Given the description of an element on the screen output the (x, y) to click on. 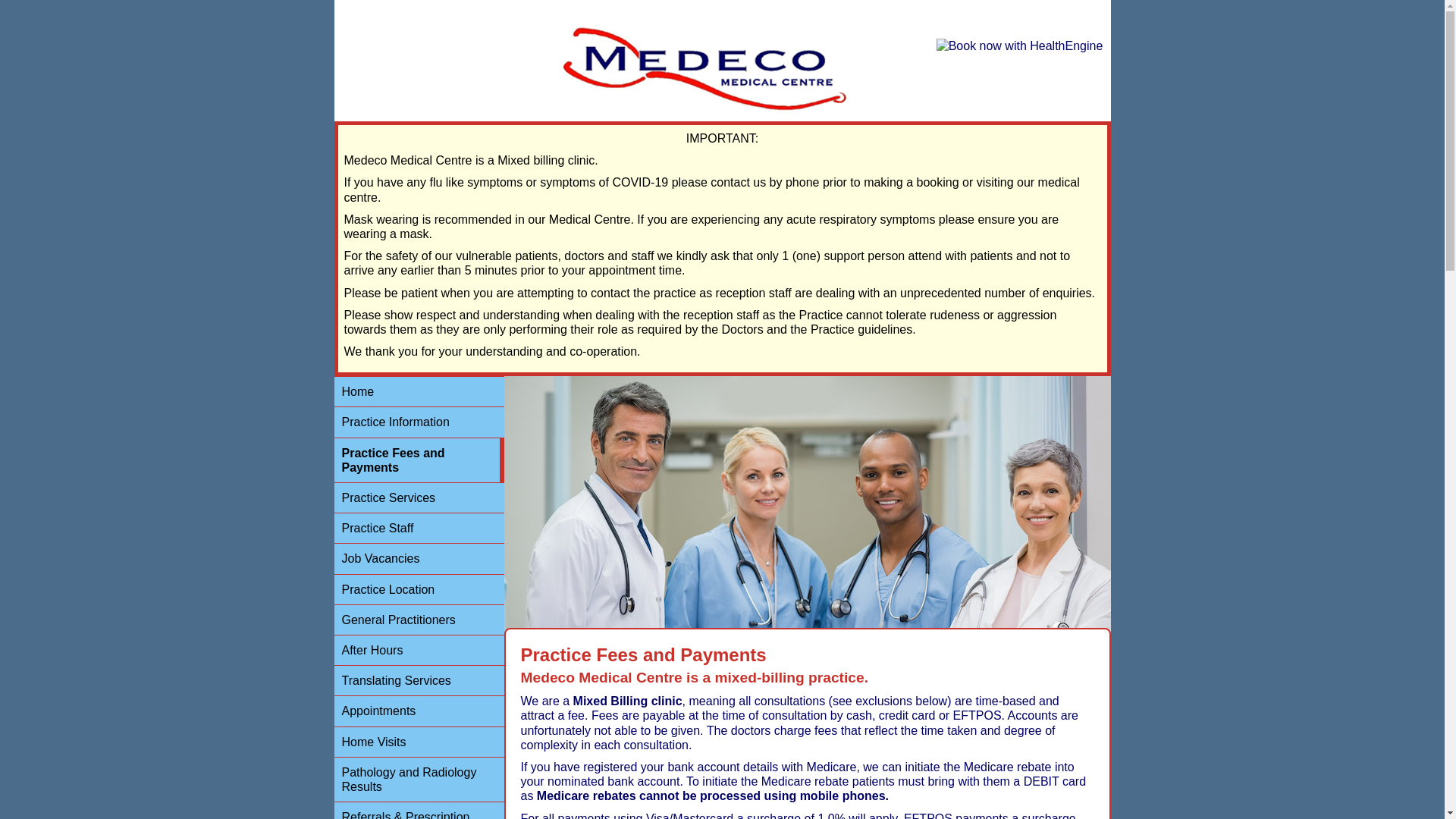
Practice Staff Element type: text (418, 528)
After Hours Element type: text (418, 650)
Job Vacancies Element type: text (418, 558)
Practice Fees and Payments Element type: text (418, 460)
Home Visits Element type: text (418, 741)
Home Element type: text (418, 391)
Practice Information Element type: text (418, 422)
General Practitioners Element type: text (418, 620)
Translating Services Element type: text (418, 680)
Practice Services Element type: text (418, 498)
Practice Location Element type: text (418, 589)
Pathology and Radiology Results Element type: text (418, 779)
Appointments Element type: text (418, 711)
